Given the description of an element on the screen output the (x, y) to click on. 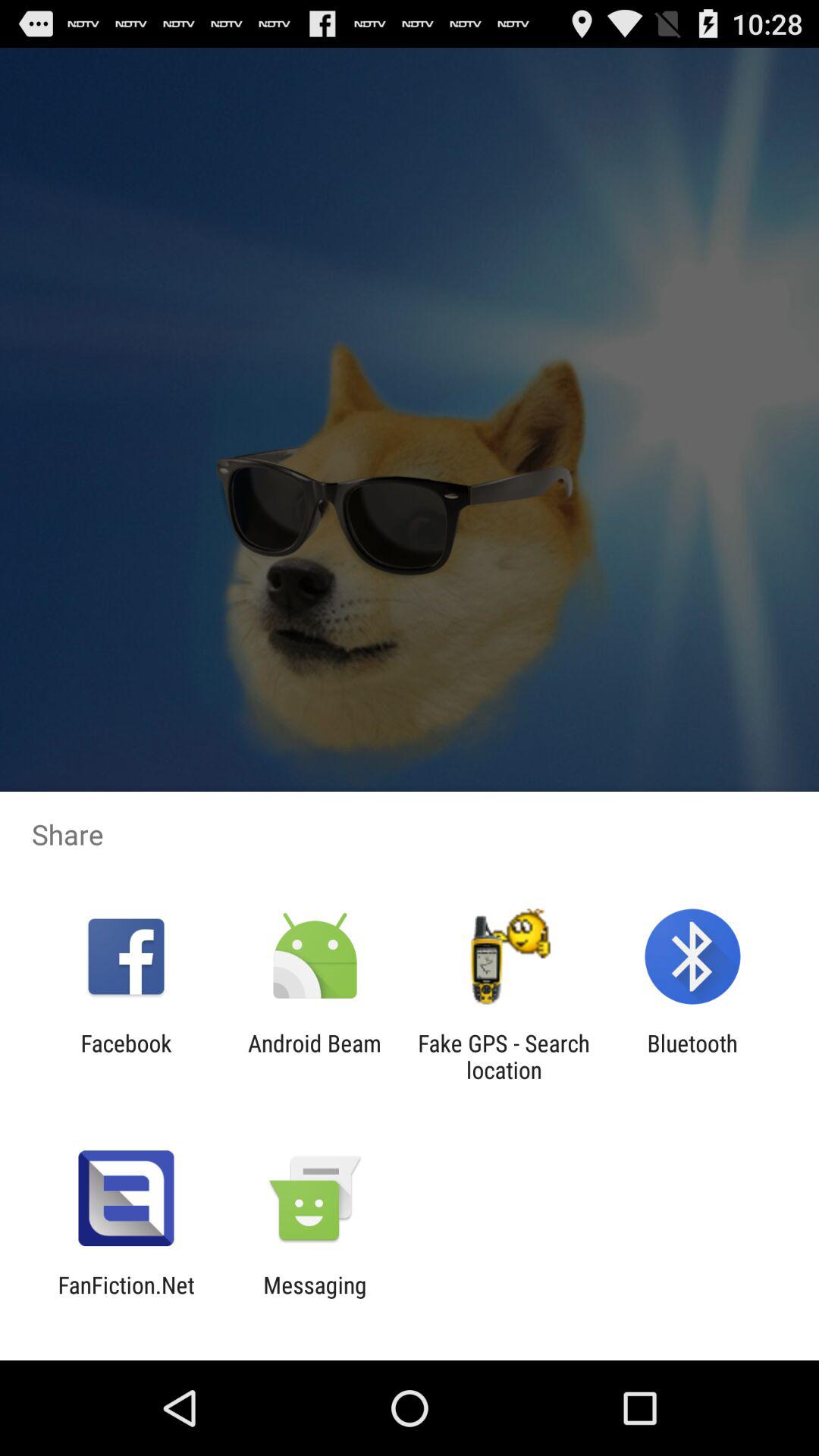
scroll until fake gps search (503, 1056)
